Given the description of an element on the screen output the (x, y) to click on. 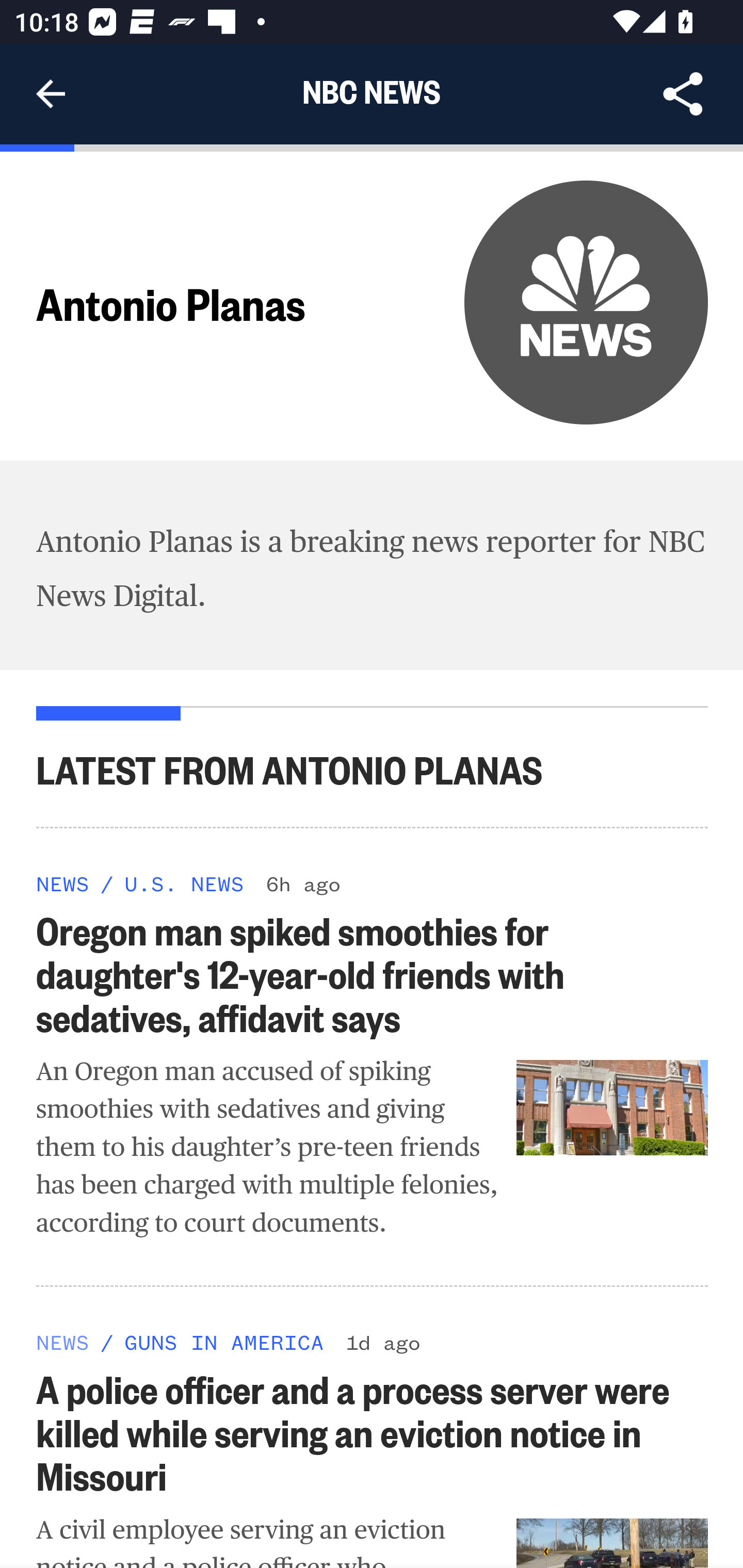
Navigate up (50, 93)
Share Article, button (683, 94)
NEWS NEWS NEWS (63, 882)
U.S. NEWS U.S. NEWS U.S. NEWS (183, 882)
NEWS NEWS NEWS (63, 1340)
GUNS IN AMERICA GUNS IN AMERICA GUNS IN AMERICA (223, 1340)
